Given the description of an element on the screen output the (x, y) to click on. 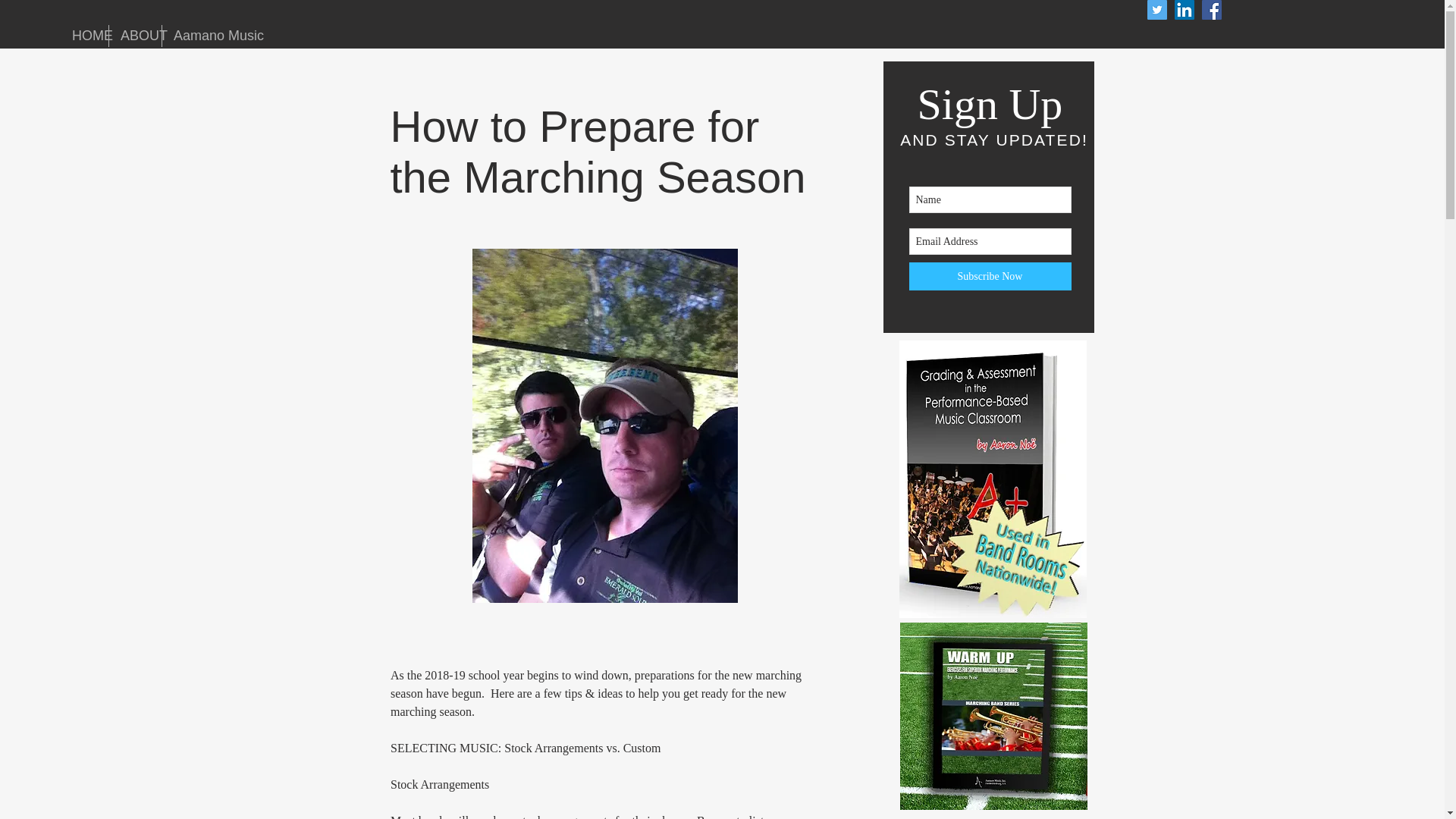
Subscribe Now (989, 276)
HOME (84, 35)
ABOUT (135, 35)
Aamano Music (204, 35)
